Given the description of an element on the screen output the (x, y) to click on. 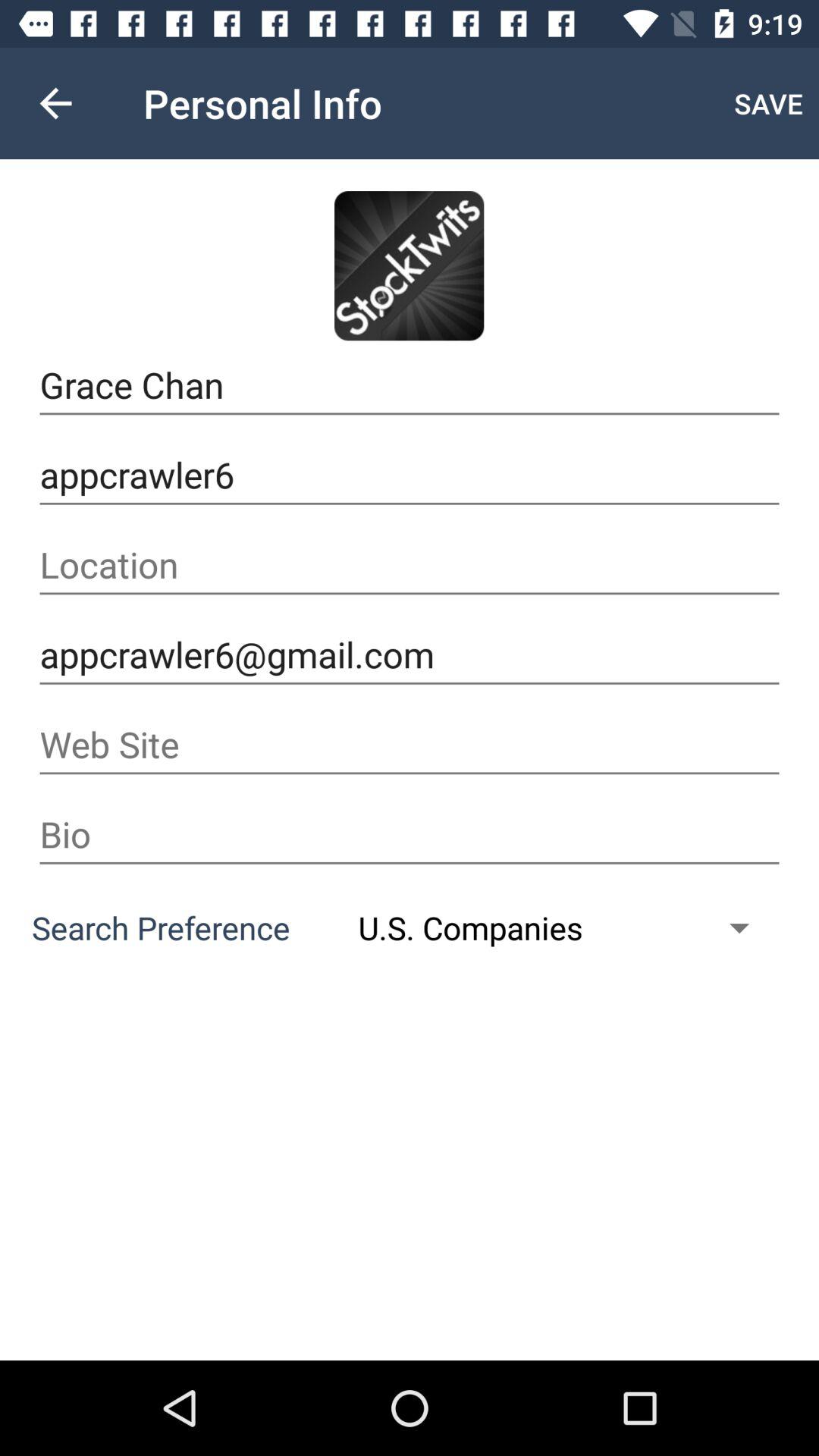
press icon above grace chan item (768, 103)
